Given the description of an element on the screen output the (x, y) to click on. 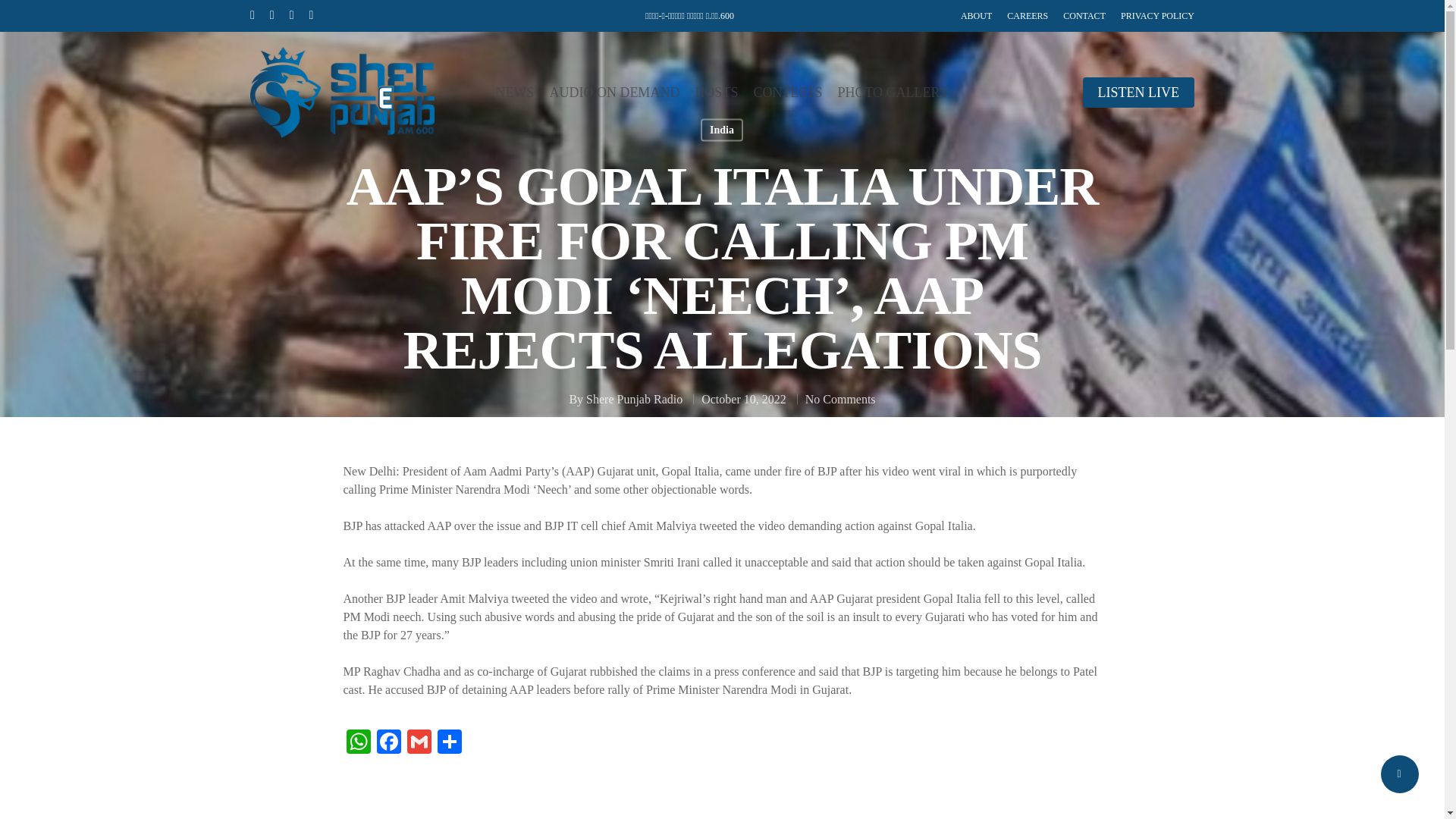
NEWS (514, 92)
CONTESTS (787, 92)
Shere Punjab Radio (634, 399)
LISTEN LIVE (1138, 92)
PRIVACY POLICY (1157, 15)
Posts by Shere Punjab Radio (634, 399)
No Comments (840, 399)
WhatsApp (357, 743)
WhatsApp (357, 743)
PHOTO GALLERY (893, 92)
